Given the description of an element on the screen output the (x, y) to click on. 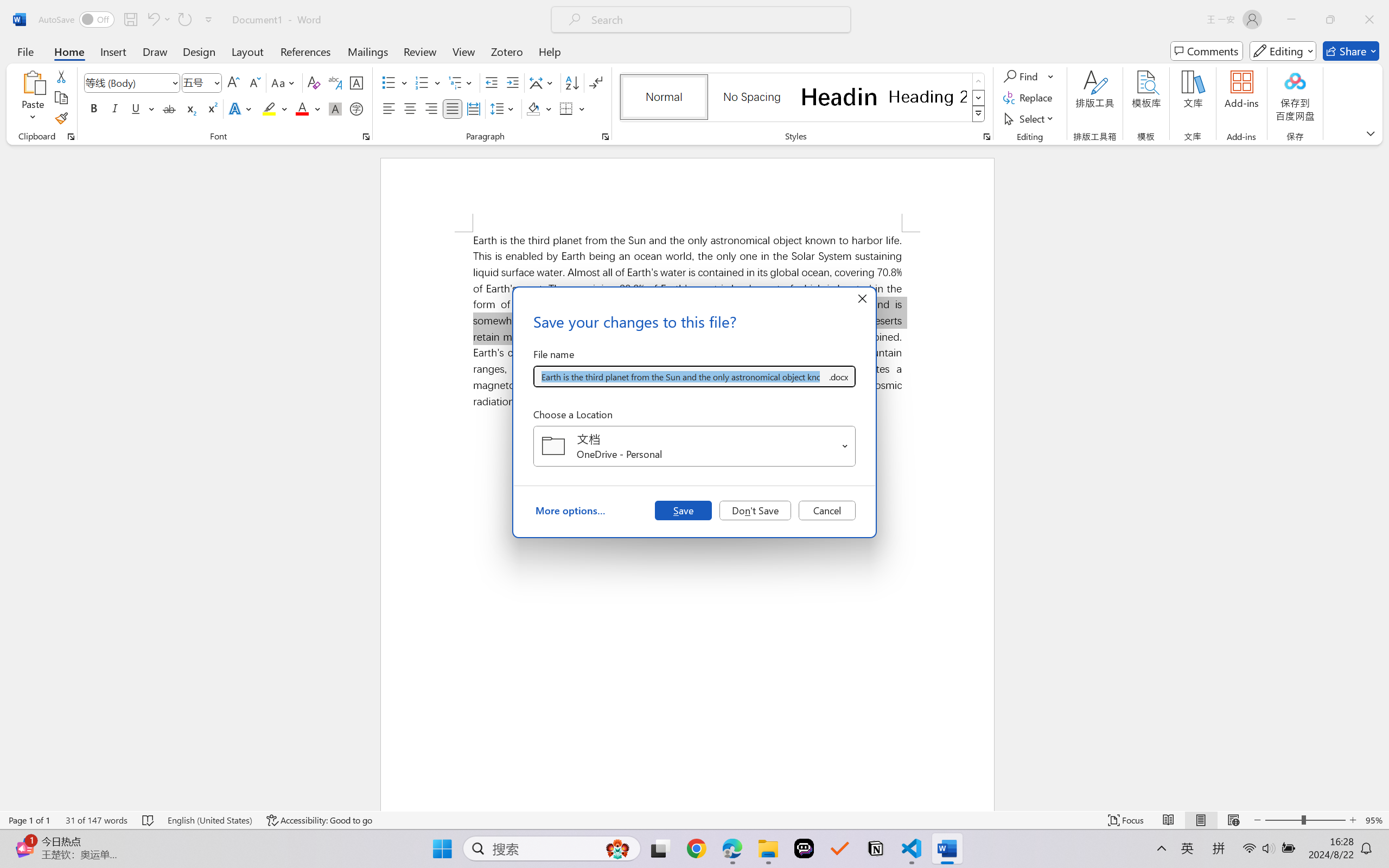
Grow Font (233, 82)
Cut (60, 75)
Decrease Indent (491, 82)
Shrink Font (253, 82)
Subscript (190, 108)
